Given the description of an element on the screen output the (x, y) to click on. 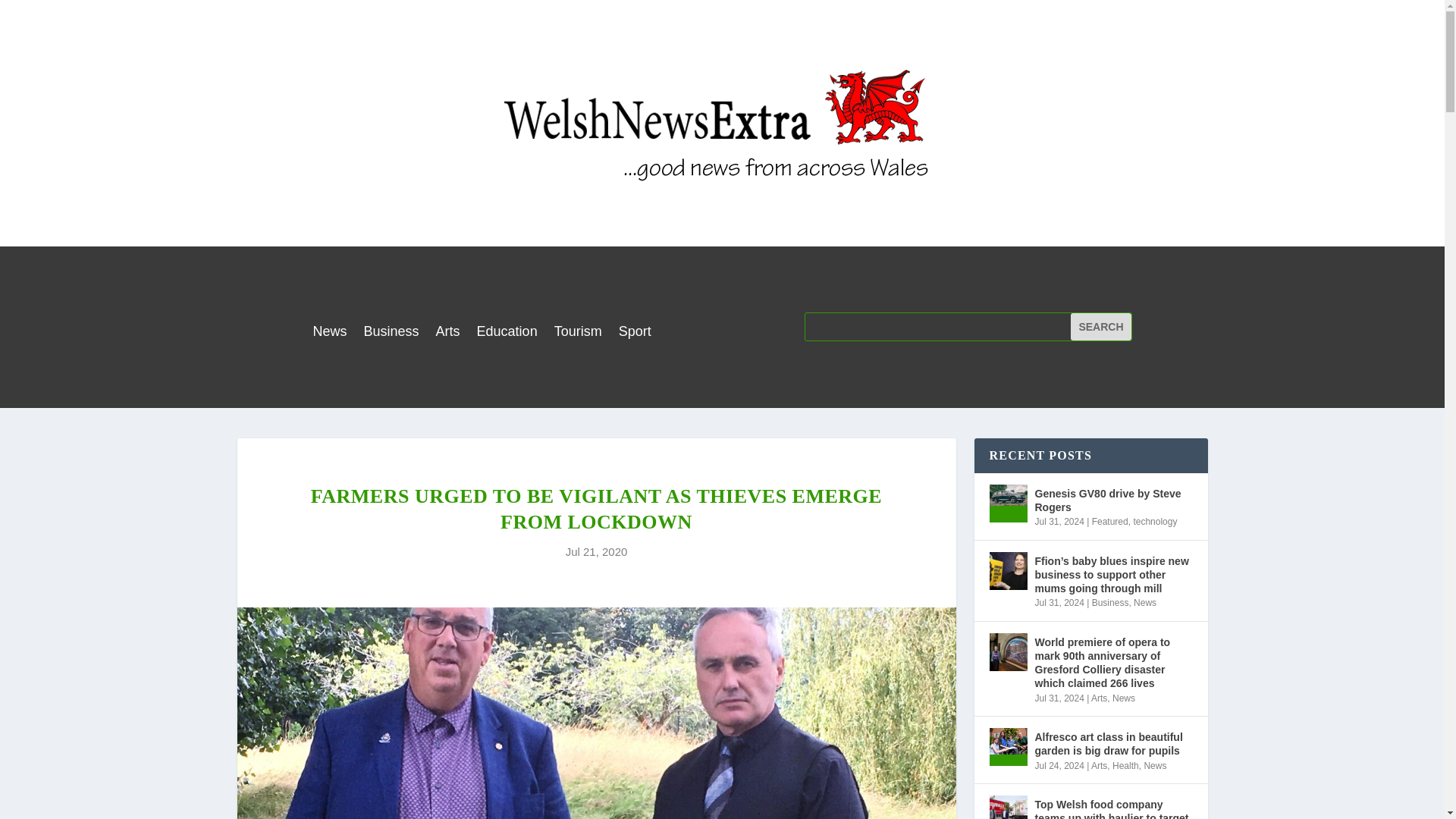
Business (391, 334)
Education (507, 334)
Search (1100, 326)
logo10 (722, 123)
Tourism (578, 334)
technology (1154, 521)
Search (1100, 326)
News (329, 334)
Sport (634, 334)
Featured (1110, 521)
Genesis GV80 drive by Steve Rogers (1112, 500)
Genesis GV80 drive by Steve Rogers (1007, 503)
Search (1100, 326)
Arts (447, 334)
